Given the description of an element on the screen output the (x, y) to click on. 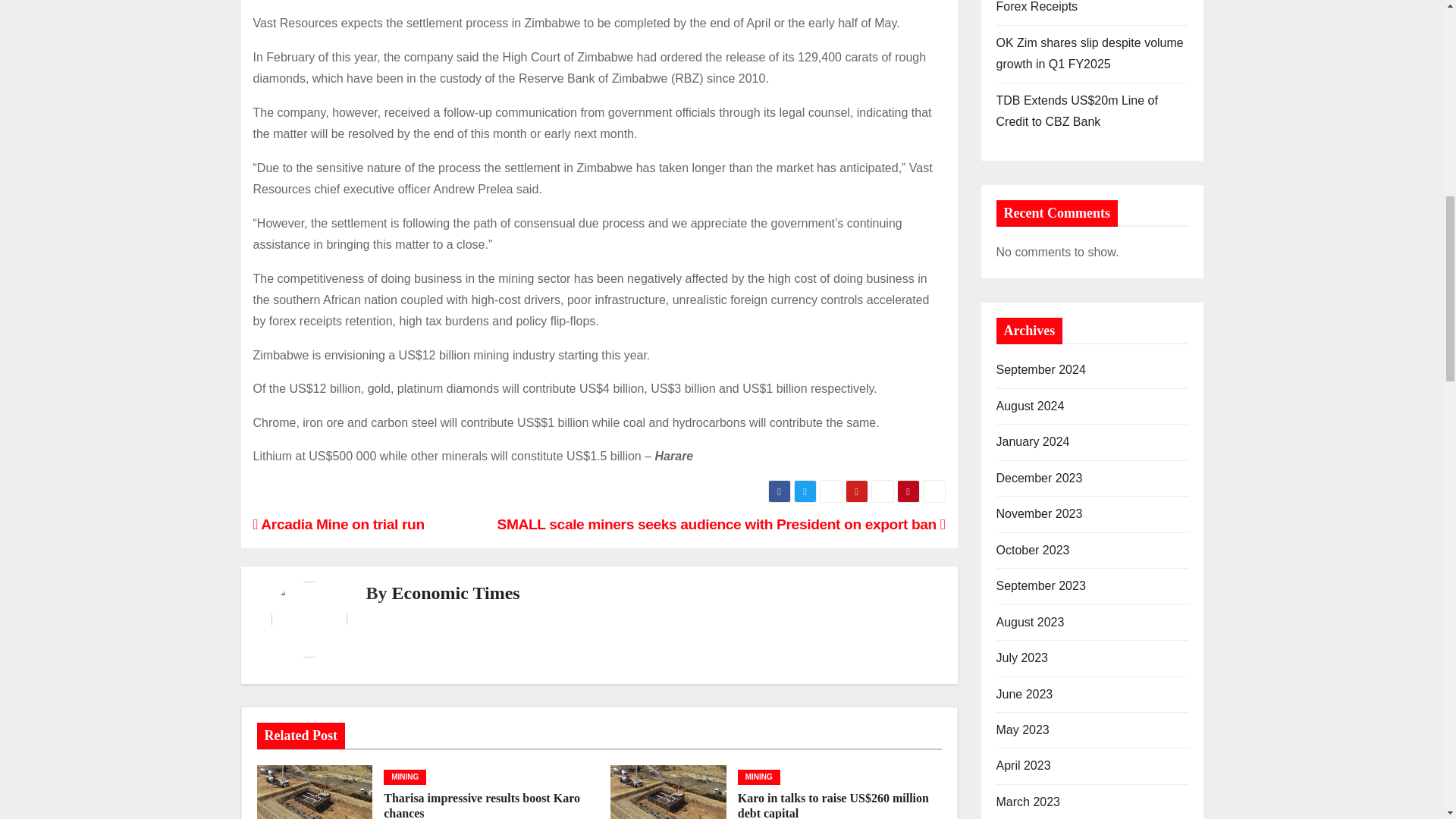
Arcadia Mine on trial run (339, 524)
Permalink to: Tharisa impressive results boost Karo chances (481, 805)
